Given the description of an element on the screen output the (x, y) to click on. 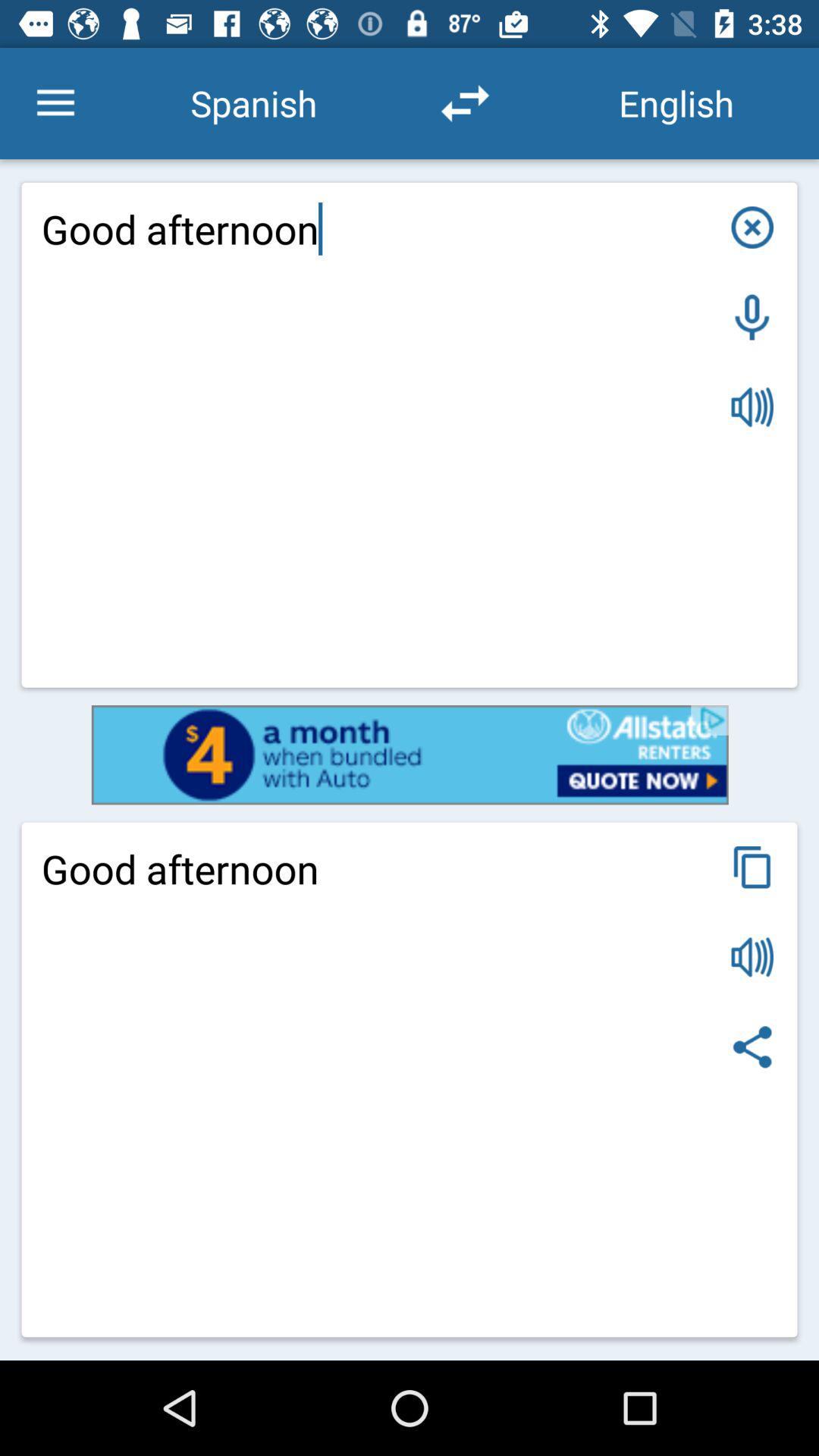
go back volume option (752, 957)
